Given the description of an element on the screen output the (x, y) to click on. 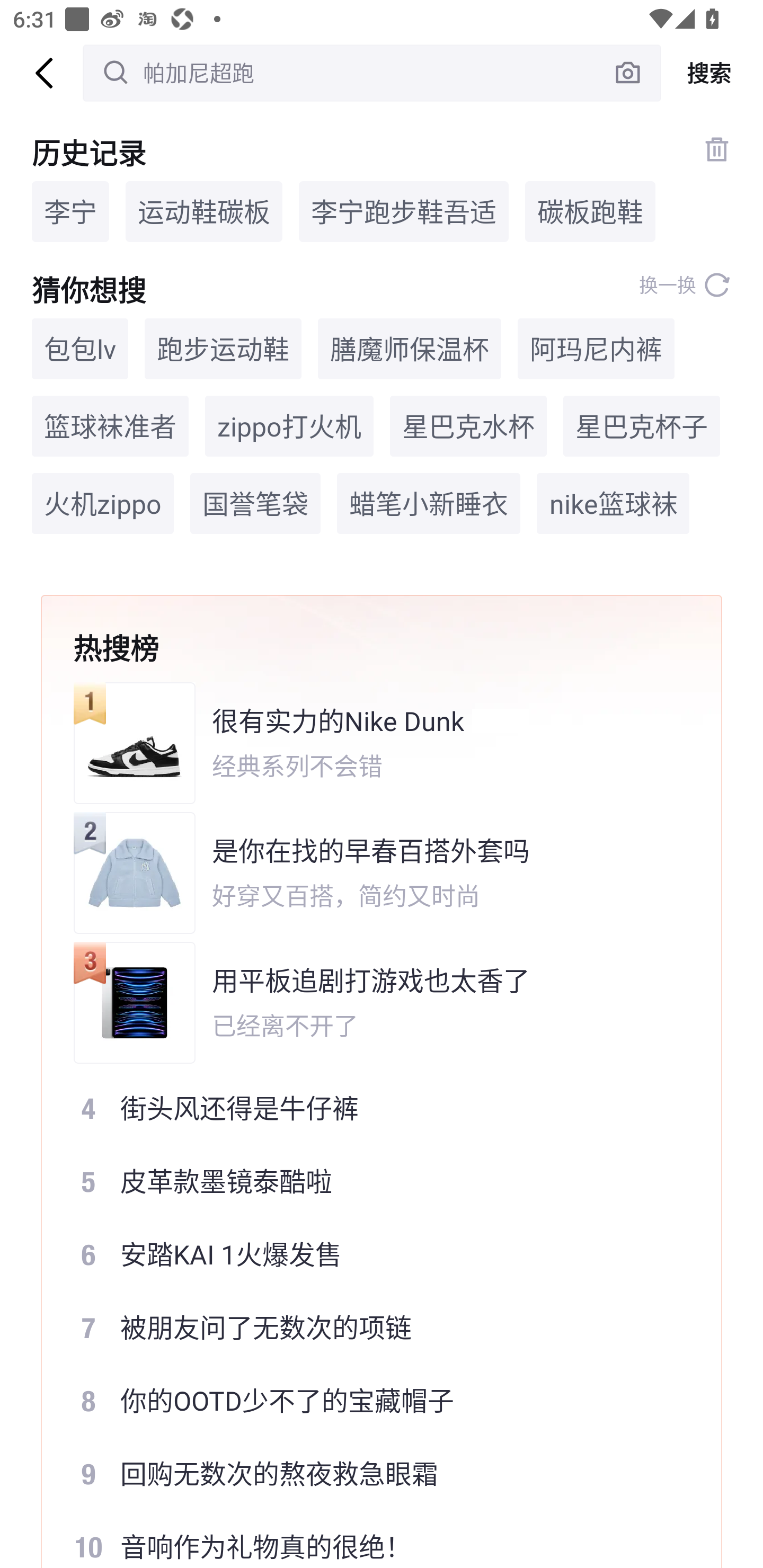
搜索 (712, 72)
帕加尼超跑 (371, 72)
李宁 (70, 211)
运动鞋碳板 (203, 211)
李宁跑步鞋吾适 (403, 211)
碳板跑鞋 (589, 211)
换一换 (684, 285)
包包lv (80, 348)
跑步运动鞋 (222, 348)
膳魔师保温杯 (409, 348)
阿玛尼内裤 (595, 348)
篮球袜准者 (110, 425)
zippo打火机 (289, 425)
星巴克水杯 (468, 425)
星巴克杯子 (641, 425)
火机zippo (102, 503)
国誉笔袋 (254, 503)
蜡笔小新睡衣 (428, 503)
nike篮球袜 (612, 503)
很有实力的Nike Dunk 经典系列不会错 (369, 743)
是你在找的早春百搭外套吗 好穿又百搭，简约又时尚 (369, 873)
用平板追剧打游戏也太香了 已经离不开了 (369, 1002)
4 街头风还得是牛仔裤 (369, 1107)
5 皮革款墨镜泰酷啦 (369, 1181)
6 安踏KAI 1火爆发售 (369, 1254)
7 被朋友问了无数次的项链 (369, 1327)
8 你的OOTD少不了的宝藏帽子 (369, 1400)
9 回购无数次的熬夜救急眼霜 (369, 1473)
10 音响作为礼物真的很绝！ (369, 1538)
